Given the description of an element on the screen output the (x, y) to click on. 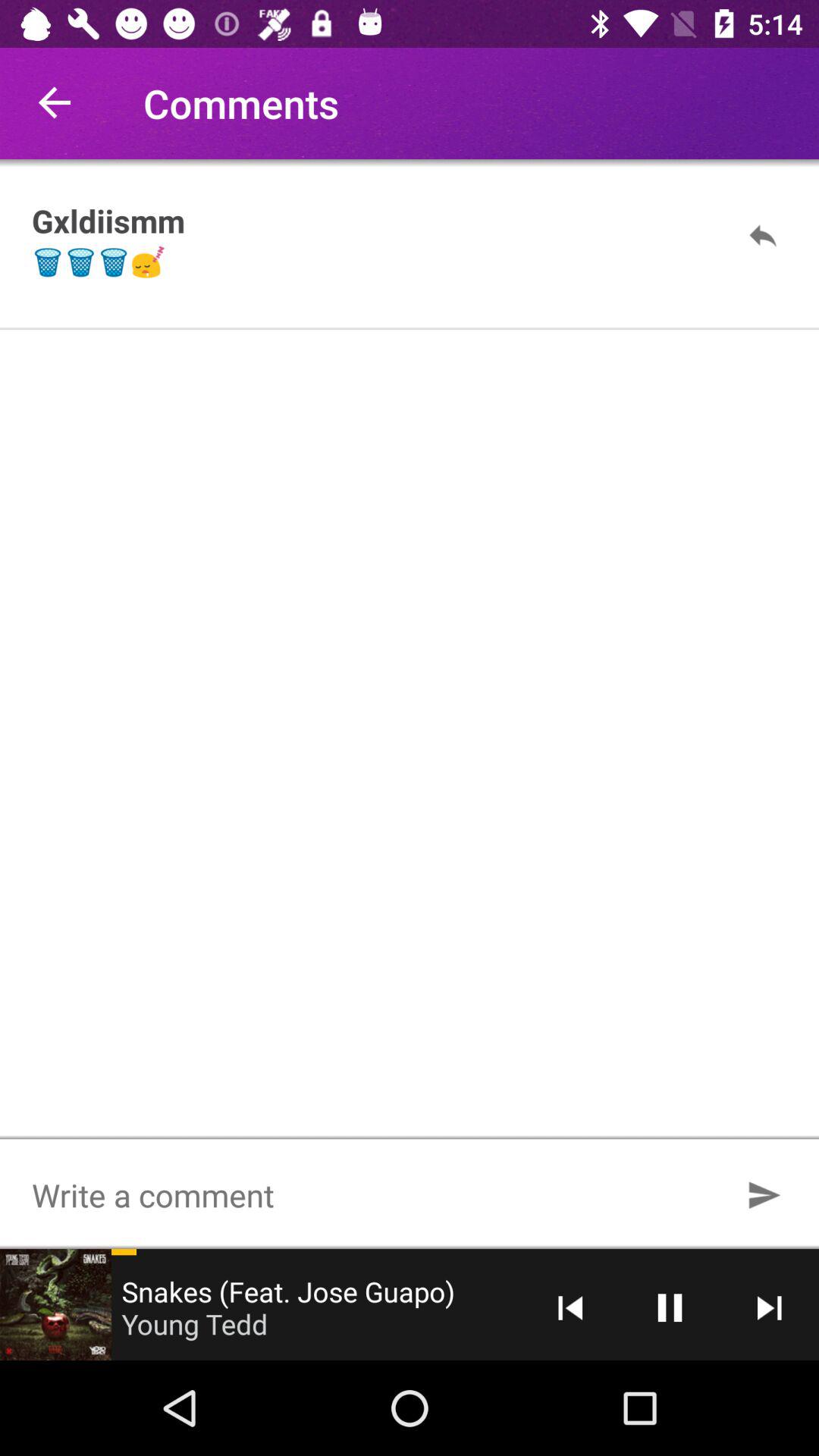
launch item to the left of comments icon (55, 103)
